Given the description of an element on the screen output the (x, y) to click on. 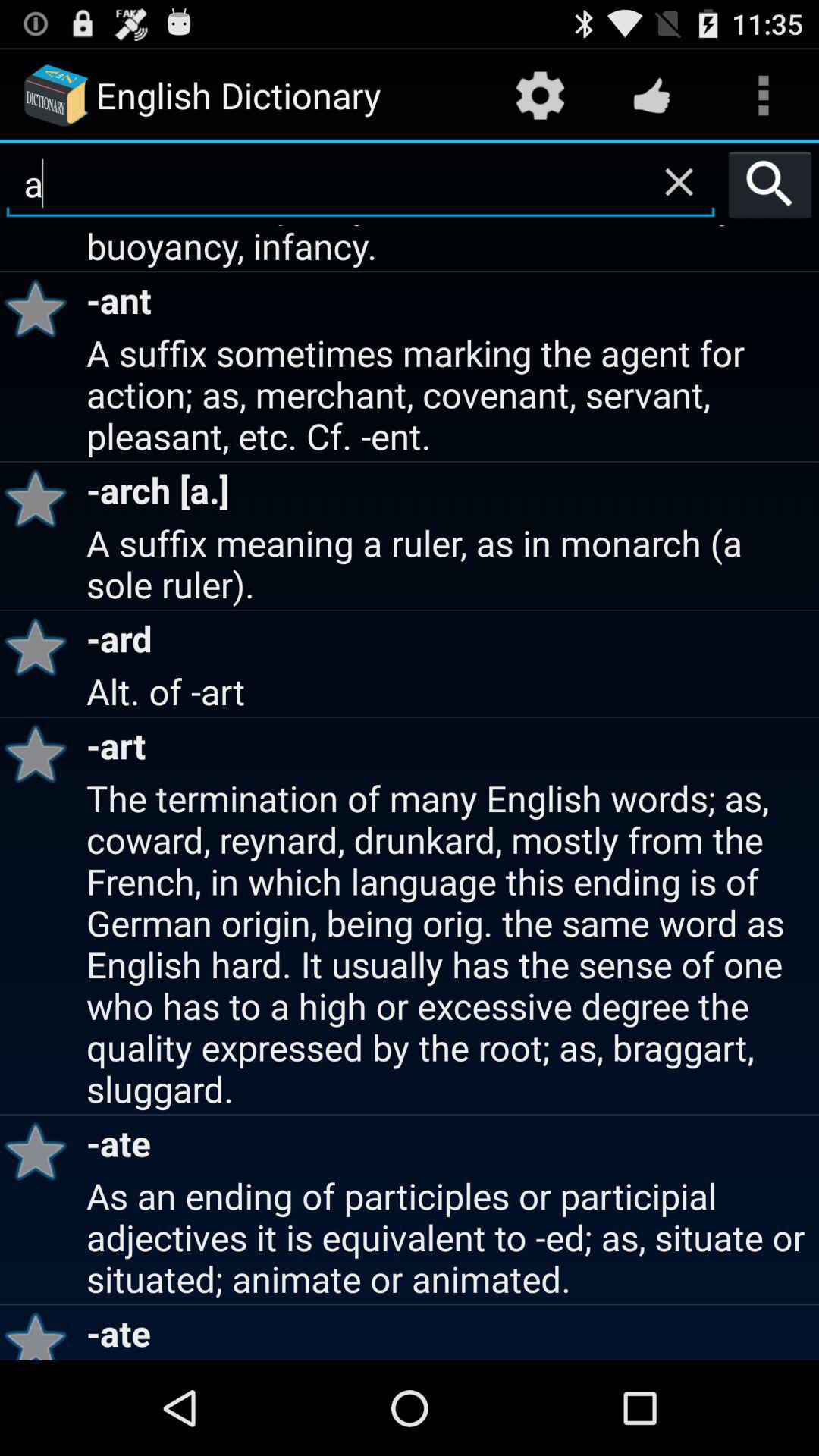
turn on item to the left of the a suffix meaning app (41, 646)
